Given the description of an element on the screen output the (x, y) to click on. 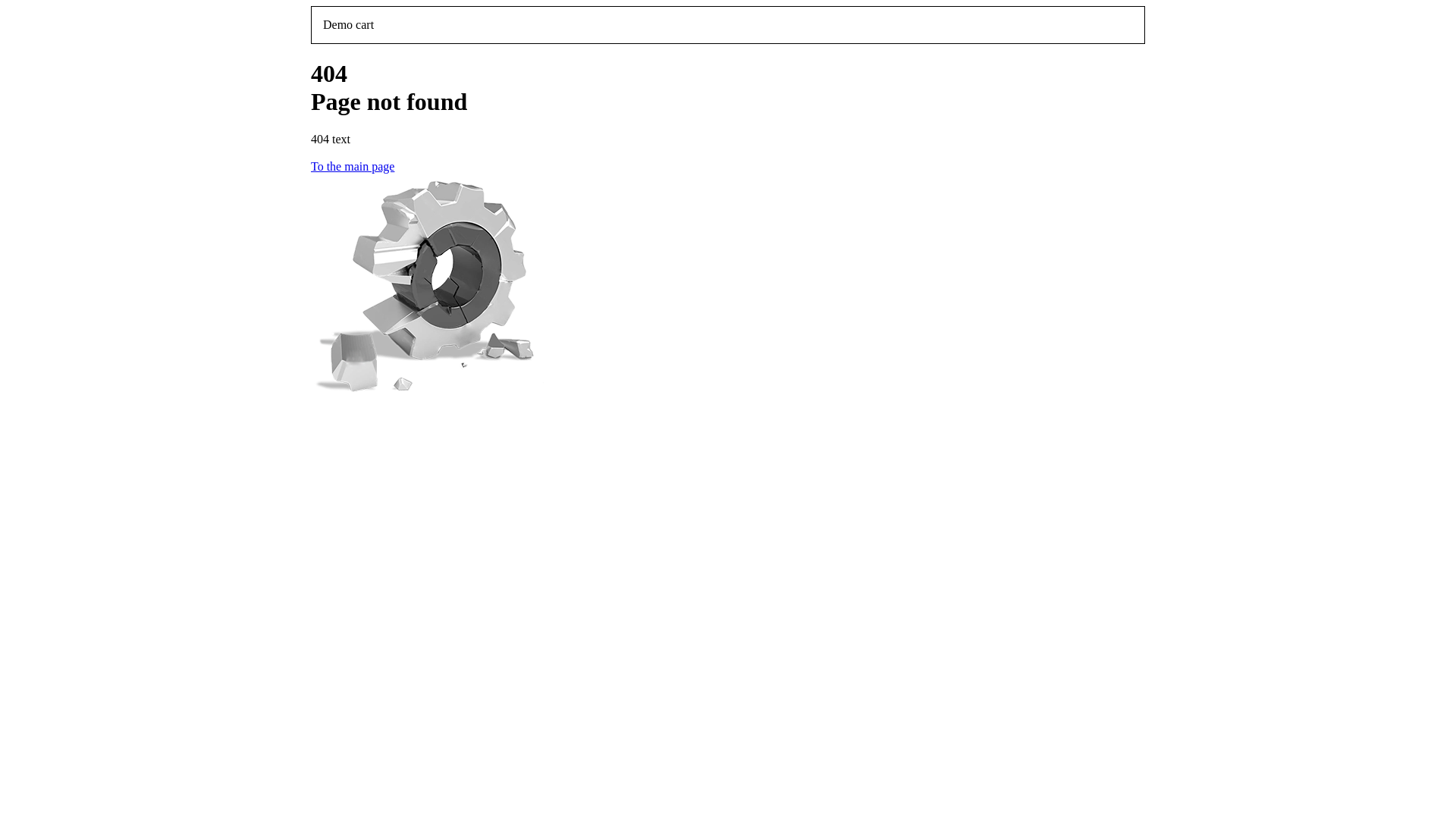
To the main page Element type: text (727, 166)
